Given the description of an element on the screen output the (x, y) to click on. 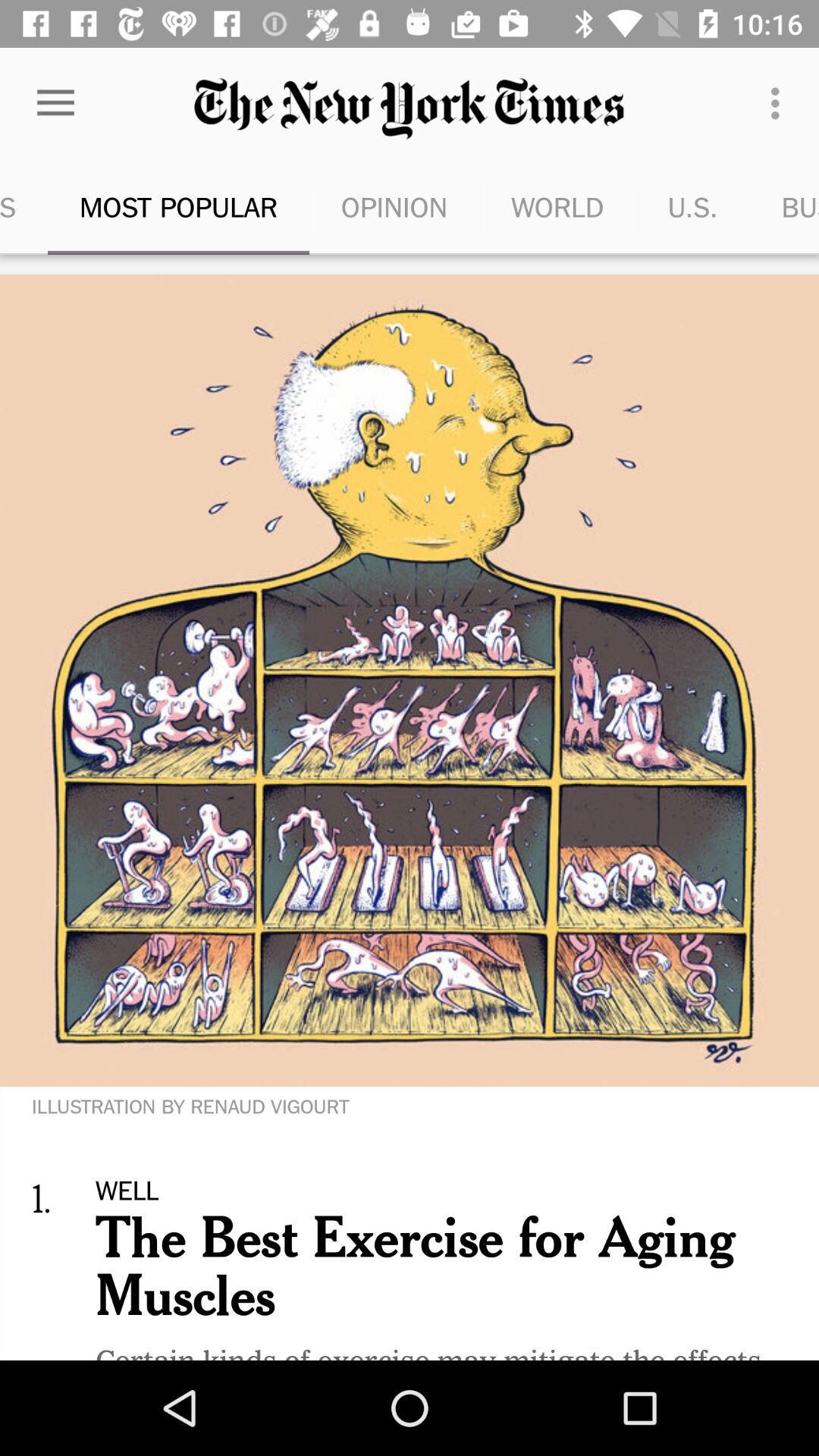
launch the icon next to u.s. (557, 206)
